Given the description of an element on the screen output the (x, y) to click on. 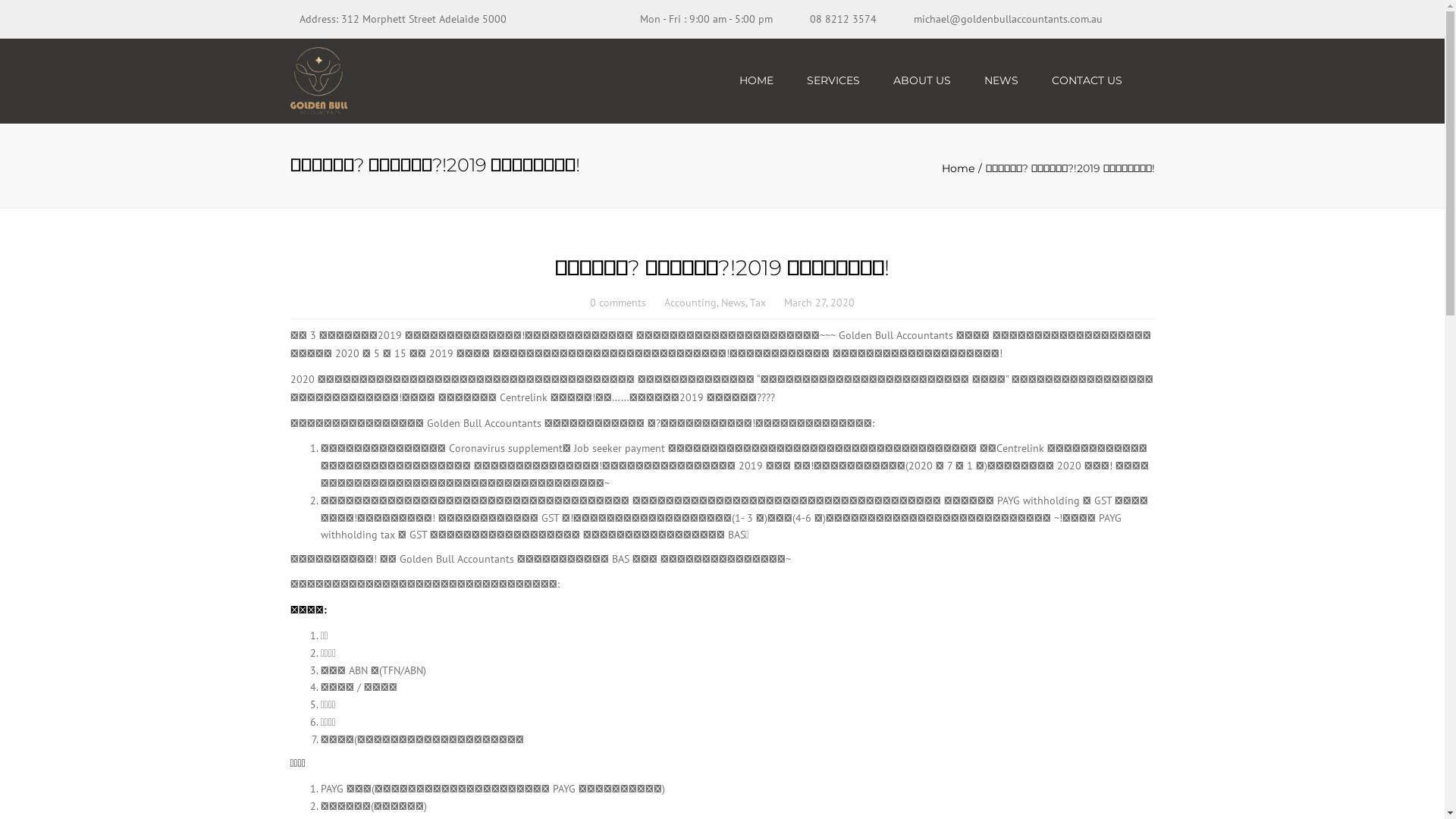
Home Element type: text (963, 168)
Tax Element type: text (757, 302)
ABOUT US Element type: text (921, 80)
HOME Element type: text (755, 80)
News Element type: text (733, 302)
NEWS Element type: text (1001, 80)
Accounting Element type: text (690, 302)
CONTACT US Element type: text (1086, 80)
SERVICES Element type: text (833, 80)
0 comments Element type: text (617, 302)
